Given the description of an element on the screen output the (x, y) to click on. 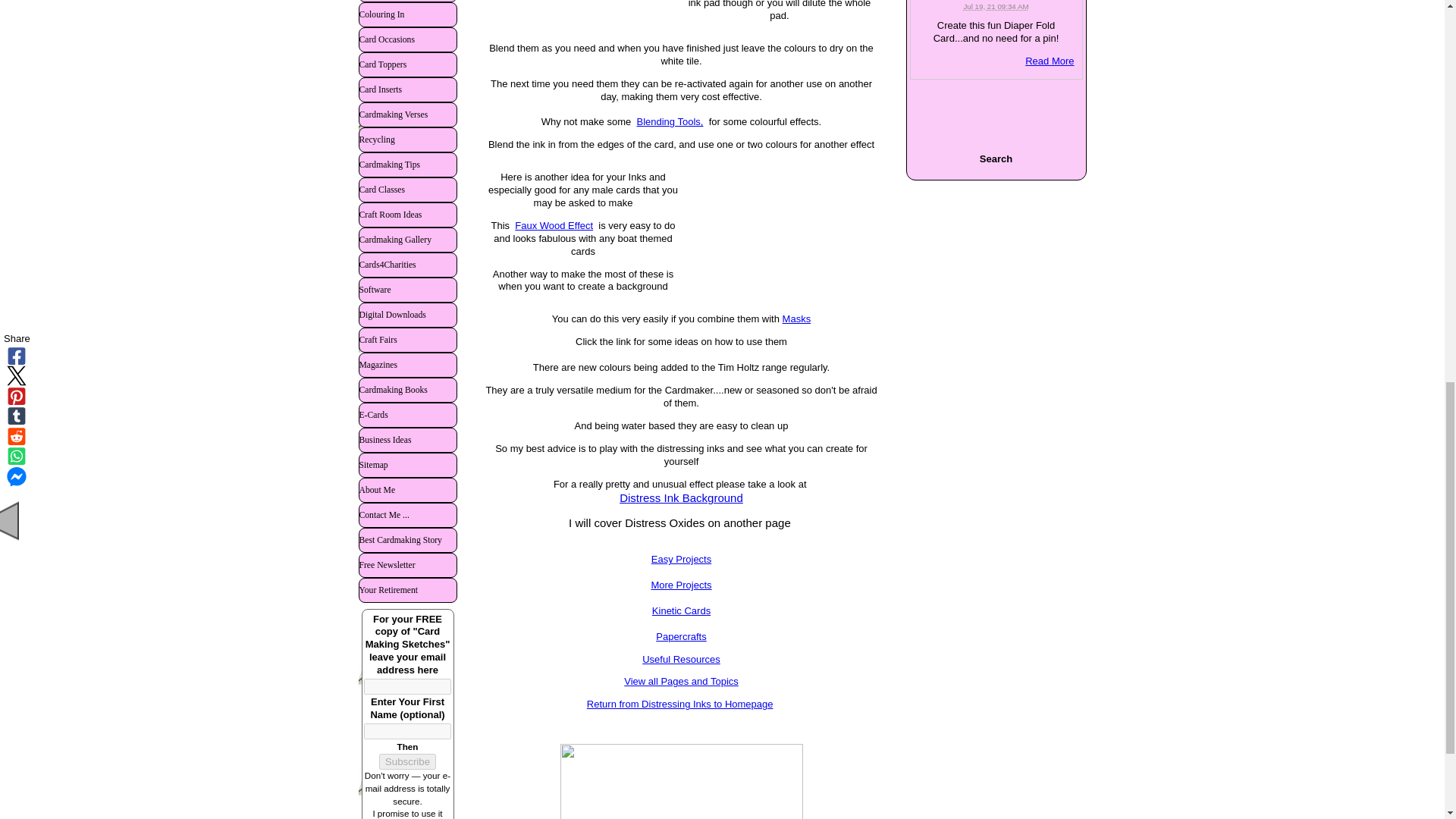
Return from Distressing Inks to Homepage (679, 704)
Useful Resources (681, 659)
Blending Tools, (669, 121)
2021-07-19T09:34:13-0400 (994, 6)
View all Pages and Topics (681, 681)
Kinetic Cards (681, 617)
Papercrafts (681, 636)
Distress Ink Background (681, 498)
Masks (796, 318)
Easy Projects (680, 565)
